Given the description of an element on the screen output the (x, y) to click on. 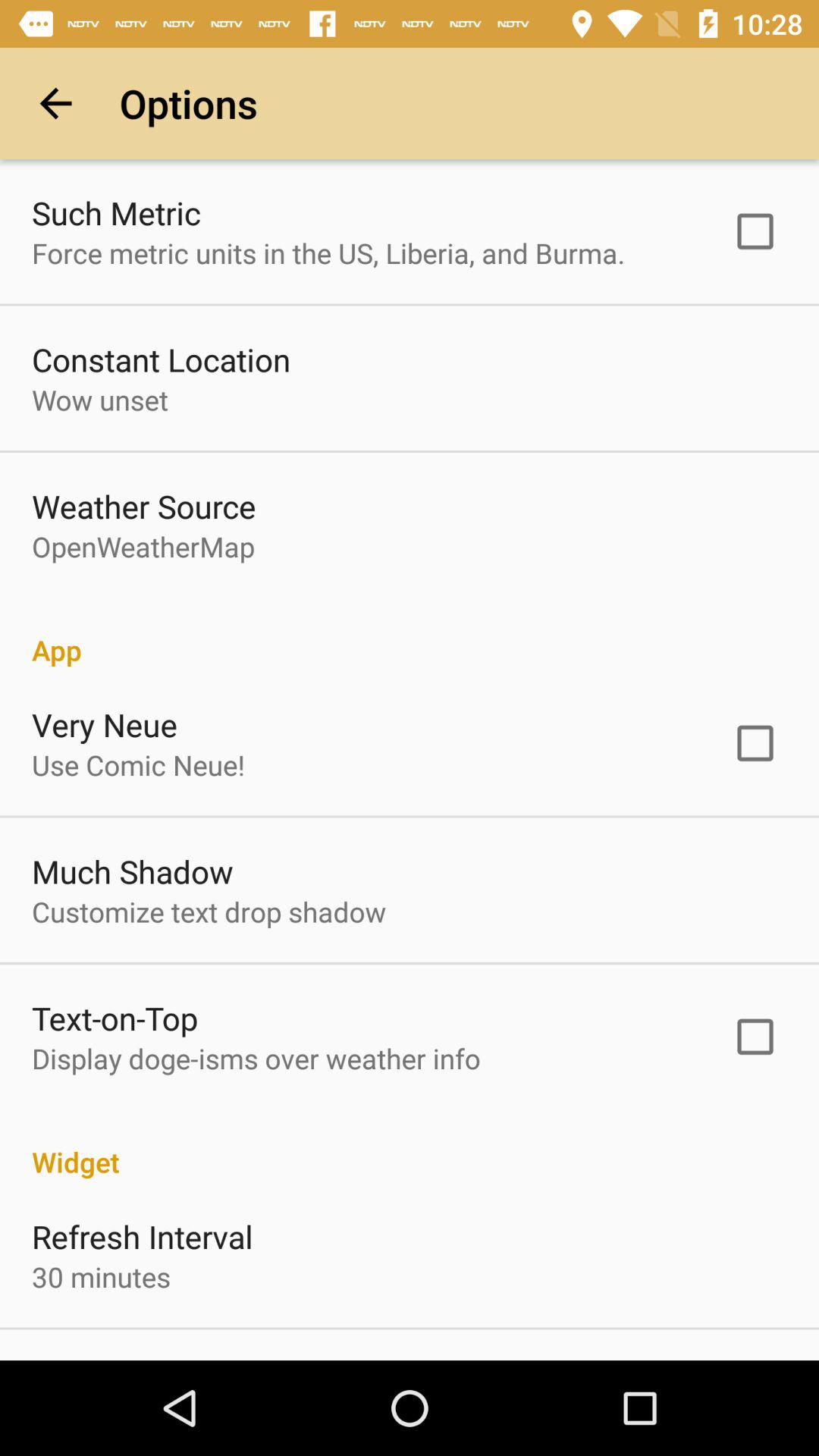
turn on app next to options app (55, 103)
